Given the description of an element on the screen output the (x, y) to click on. 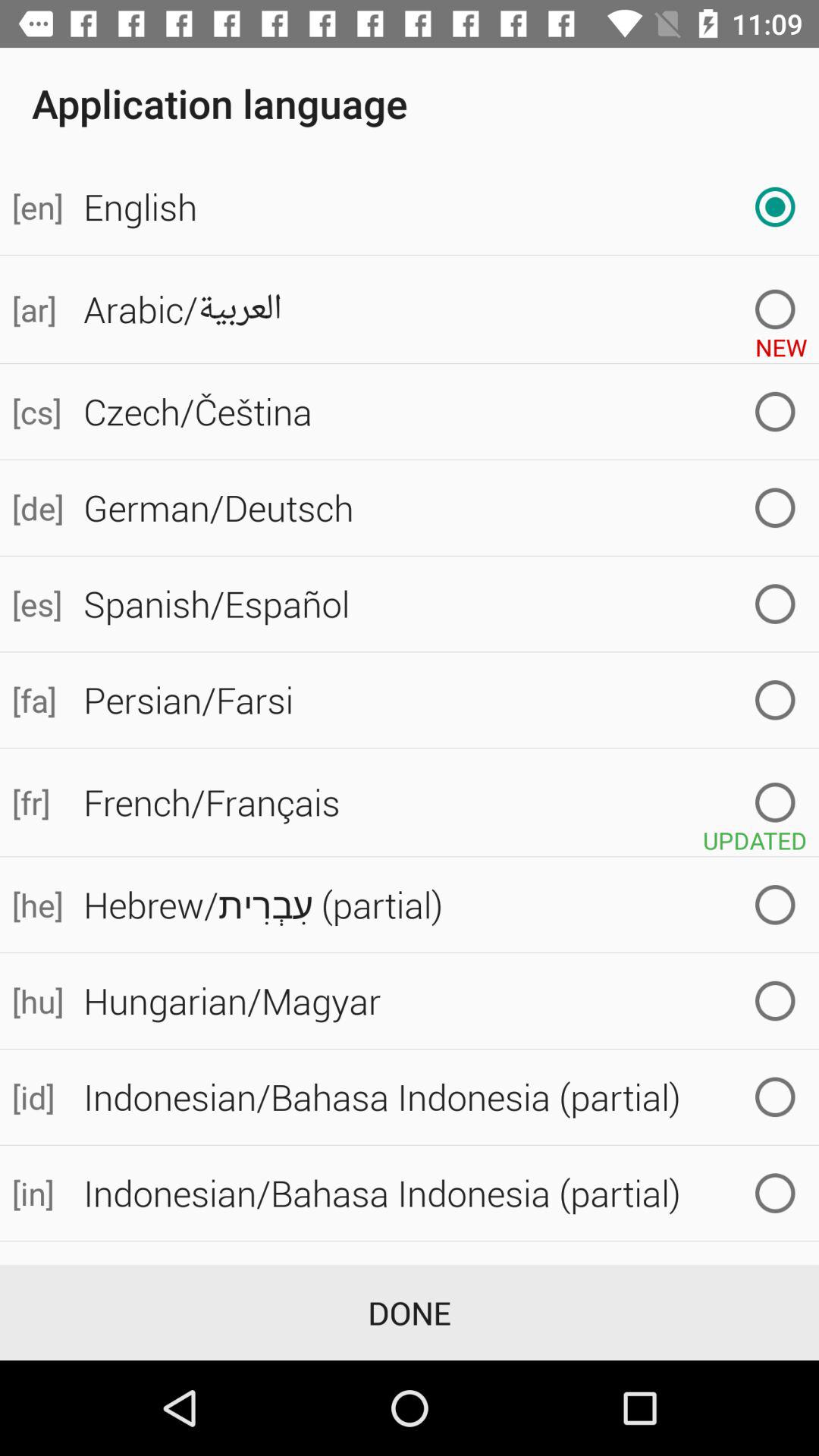
press italian/italiano icon (445, 1260)
